Given the description of an element on the screen output the (x, y) to click on. 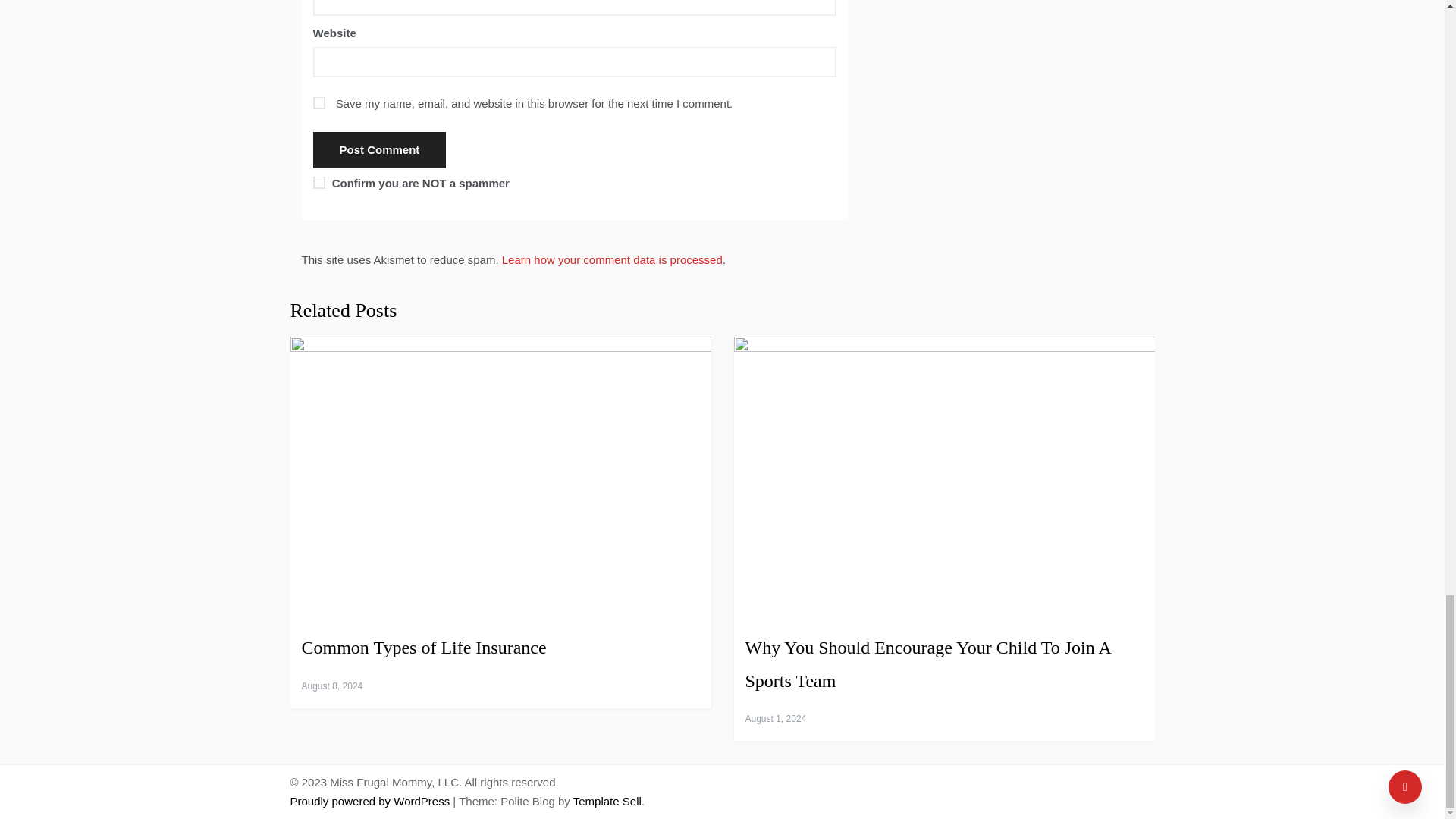
yes (318, 102)
Learn how your comment data is processed (612, 259)
Post Comment (379, 149)
Post Comment (379, 149)
on (318, 182)
